Given the description of an element on the screen output the (x, y) to click on. 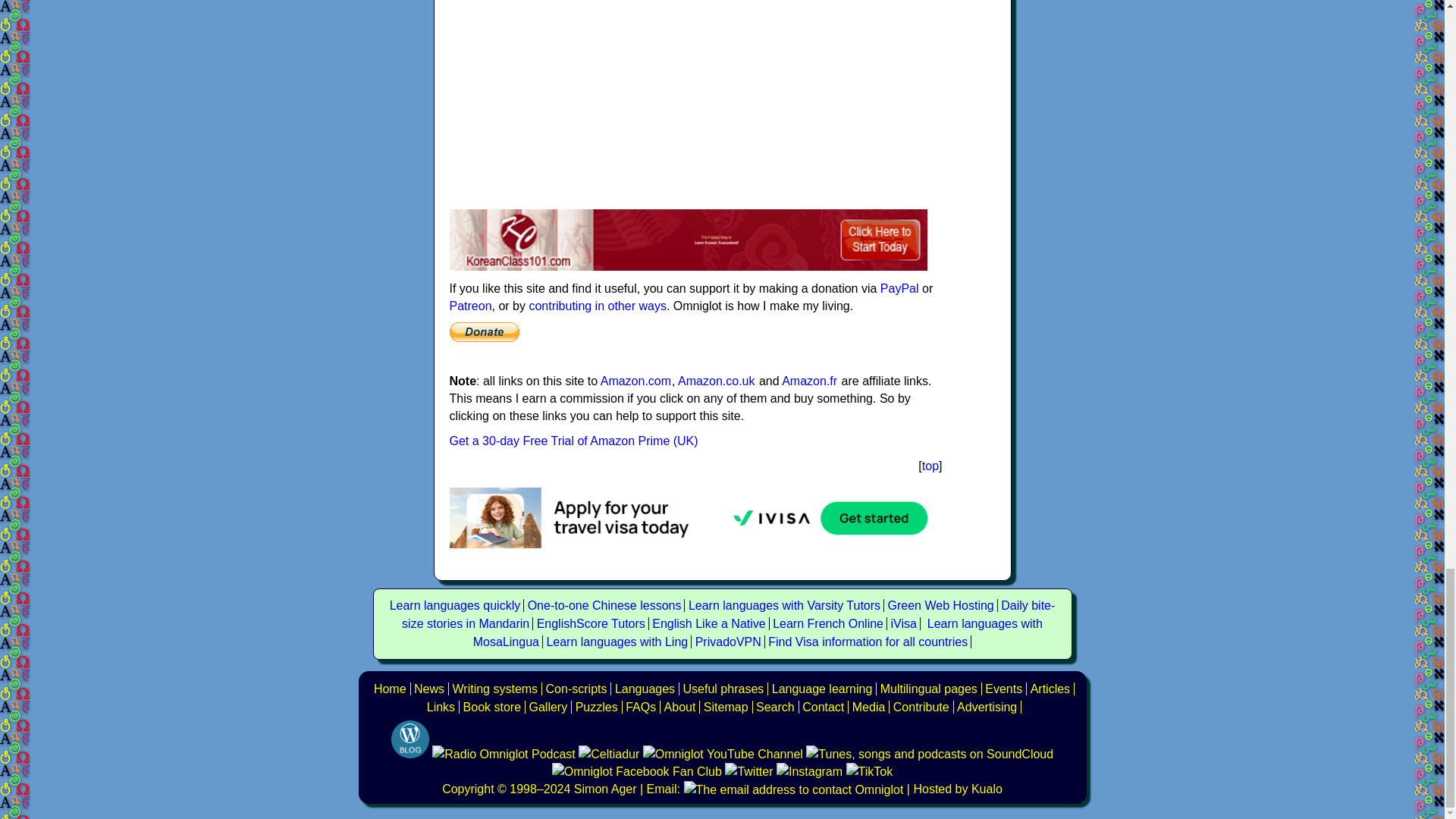
A guide to the contents of Omniglot (679, 707)
Language names in their own scripts and languages (928, 688)
PayPal - The safer, easier way to pay online! (483, 332)
A selection of phrases in numerous languages (723, 688)
Writing systems invented by visitors to Omniglot (576, 688)
